Given the description of an element on the screen output the (x, y) to click on. 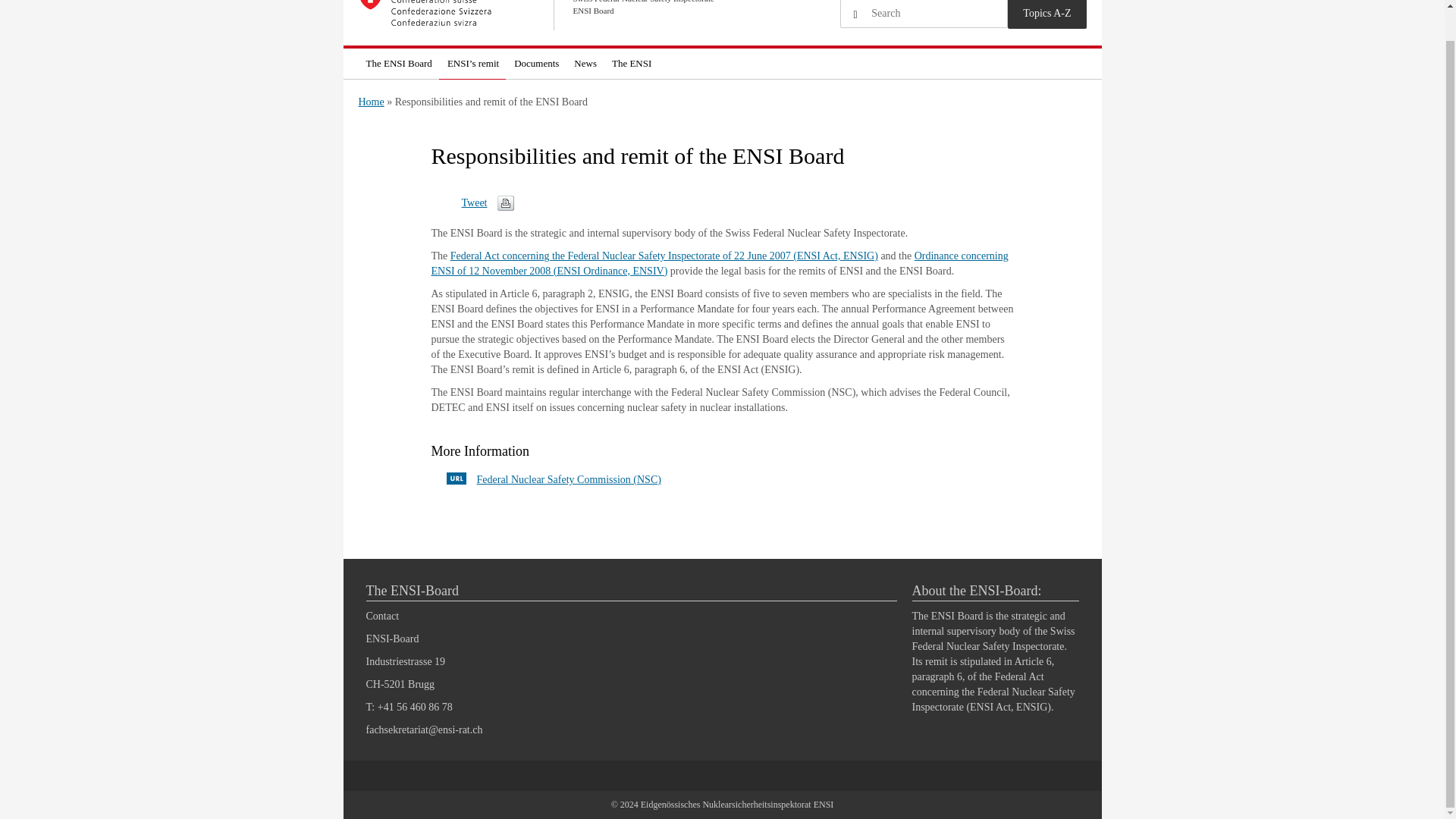
Swiss Federal Nuclear Safety Inspectorate ENSI Board (540, 15)
Topics A-Z (1046, 14)
Search (855, 15)
